Given the description of an element on the screen output the (x, y) to click on. 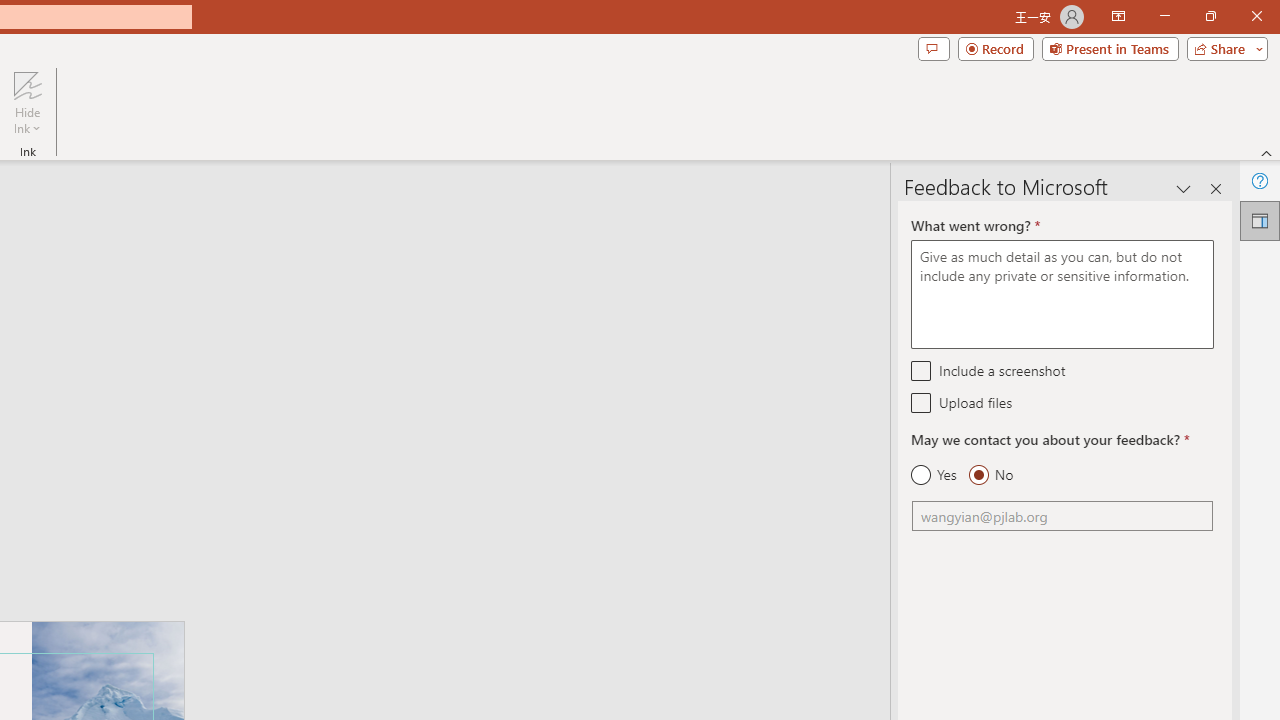
Yes (934, 475)
Email (1062, 516)
Upload files (921, 402)
No (990, 475)
